Given the description of an element on the screen output the (x, y) to click on. 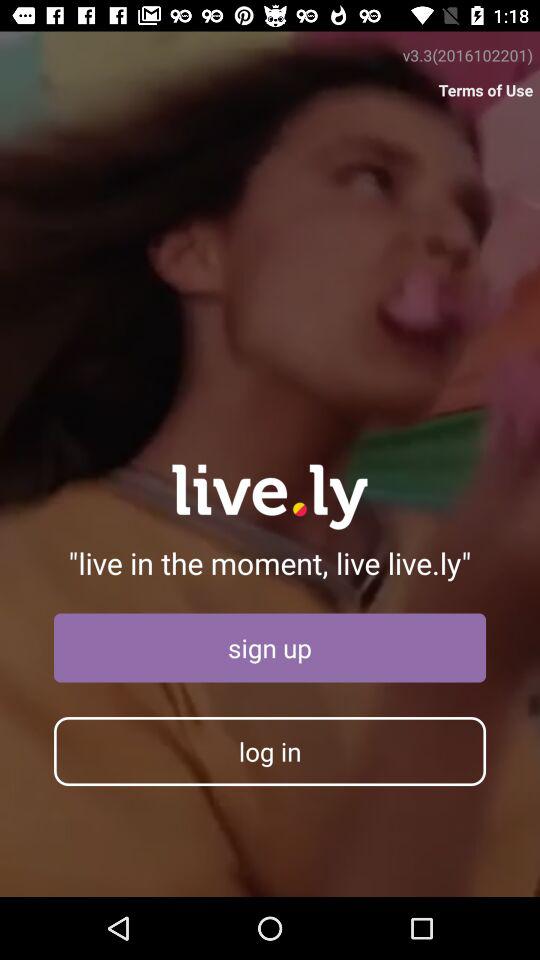
tap log in (269, 751)
